Given the description of an element on the screen output the (x, y) to click on. 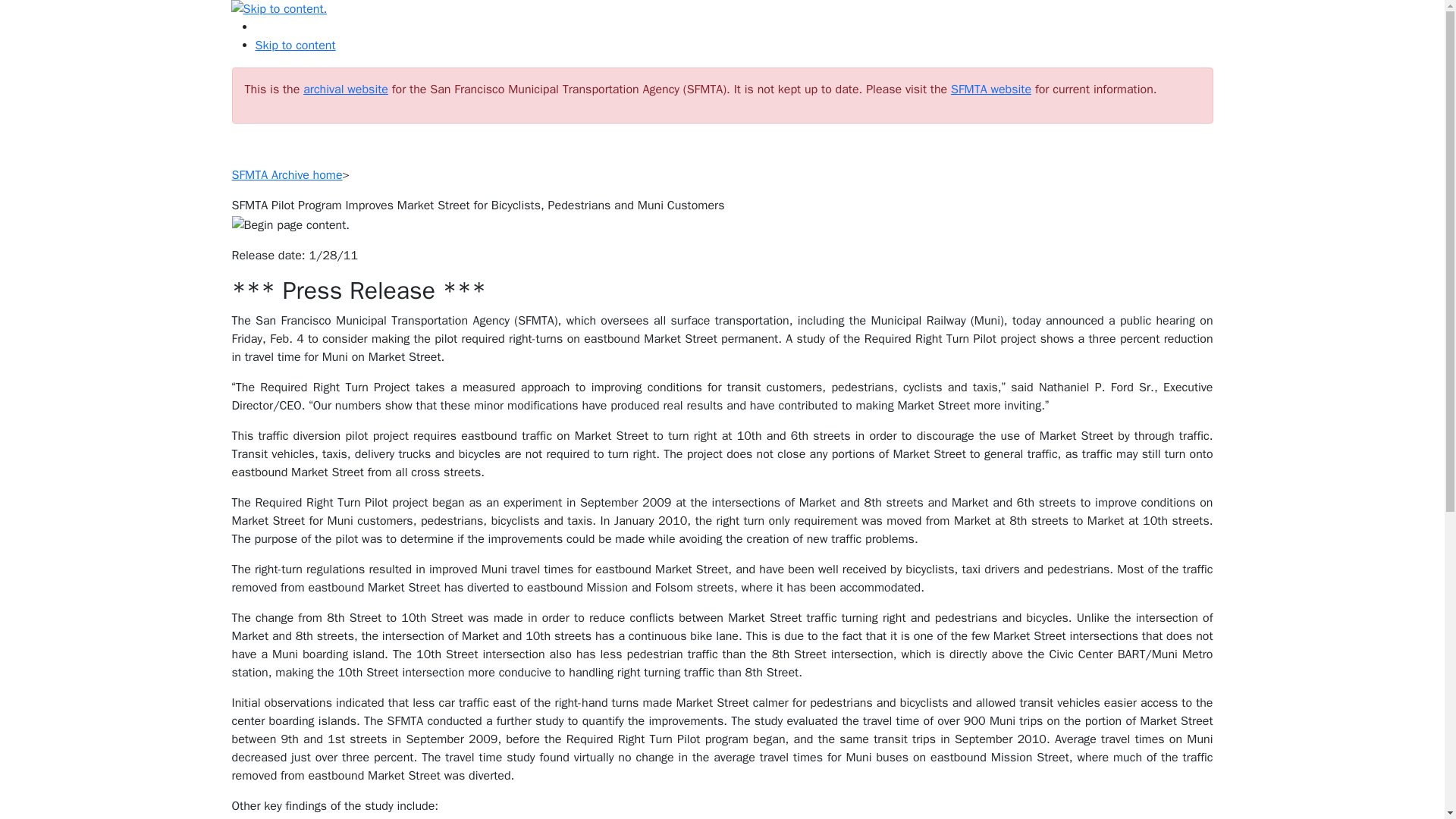
SFMTA website (990, 89)
Skip to content (294, 45)
SFMTA Archive home (286, 174)
archival website (345, 89)
